Given the description of an element on the screen output the (x, y) to click on. 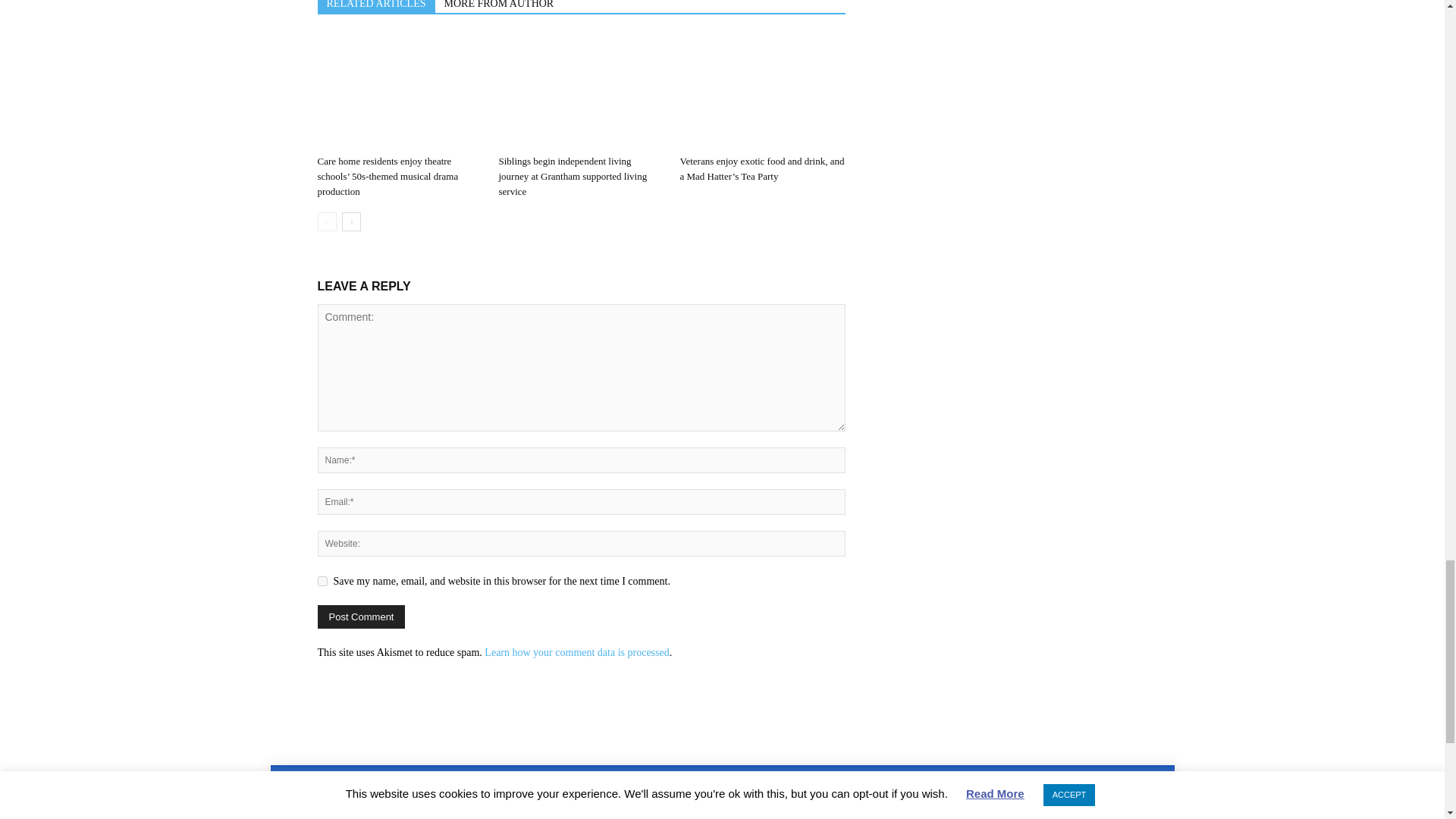
Post Comment (360, 616)
yes (321, 581)
